Given the description of an element on the screen output the (x, y) to click on. 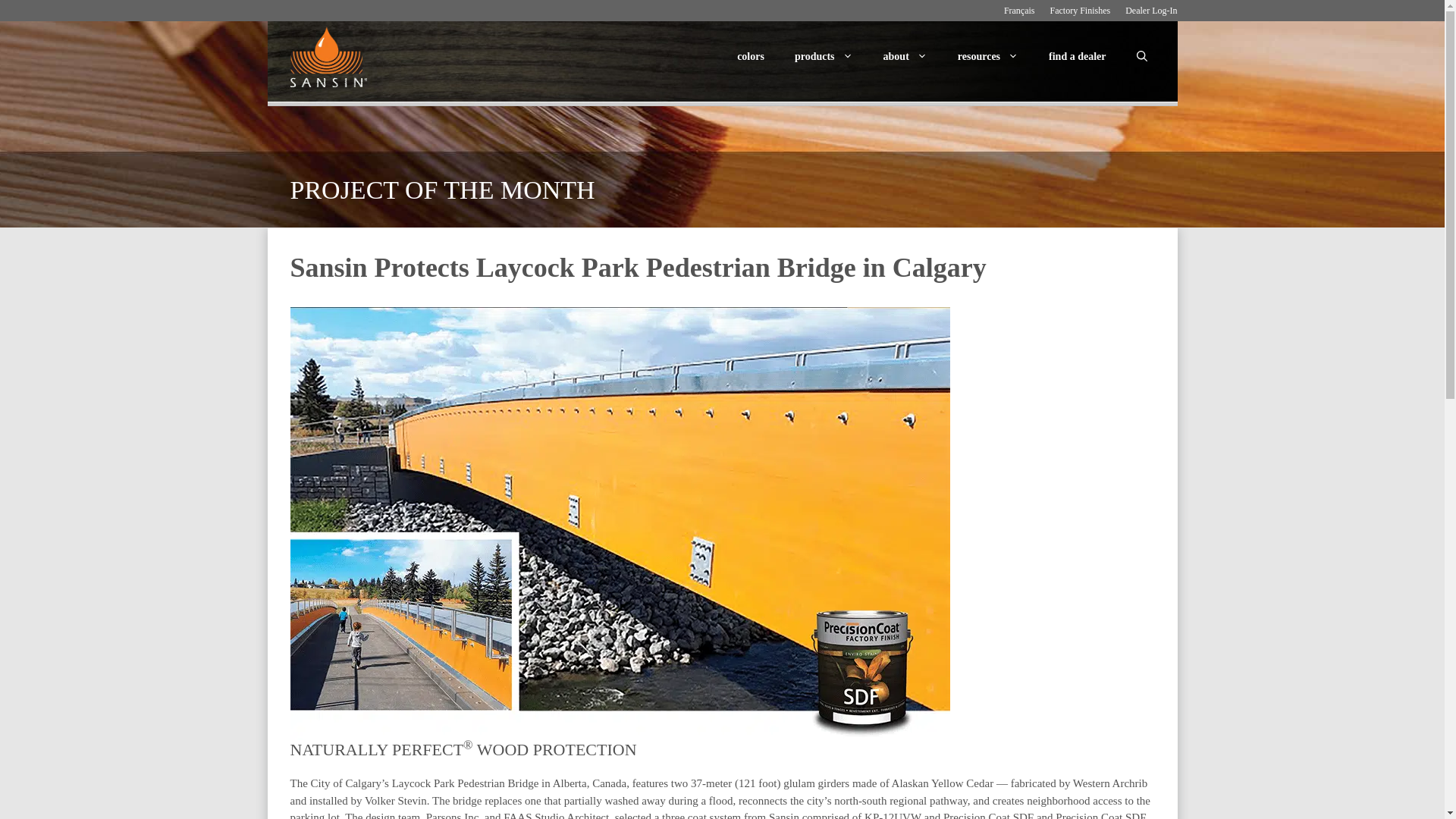
Dealer Log-In (1150, 9)
products (822, 56)
Factory Finishes (1079, 9)
resources (987, 56)
about (904, 56)
The Sansin Corporation (331, 56)
